Given the description of an element on the screen output the (x, y) to click on. 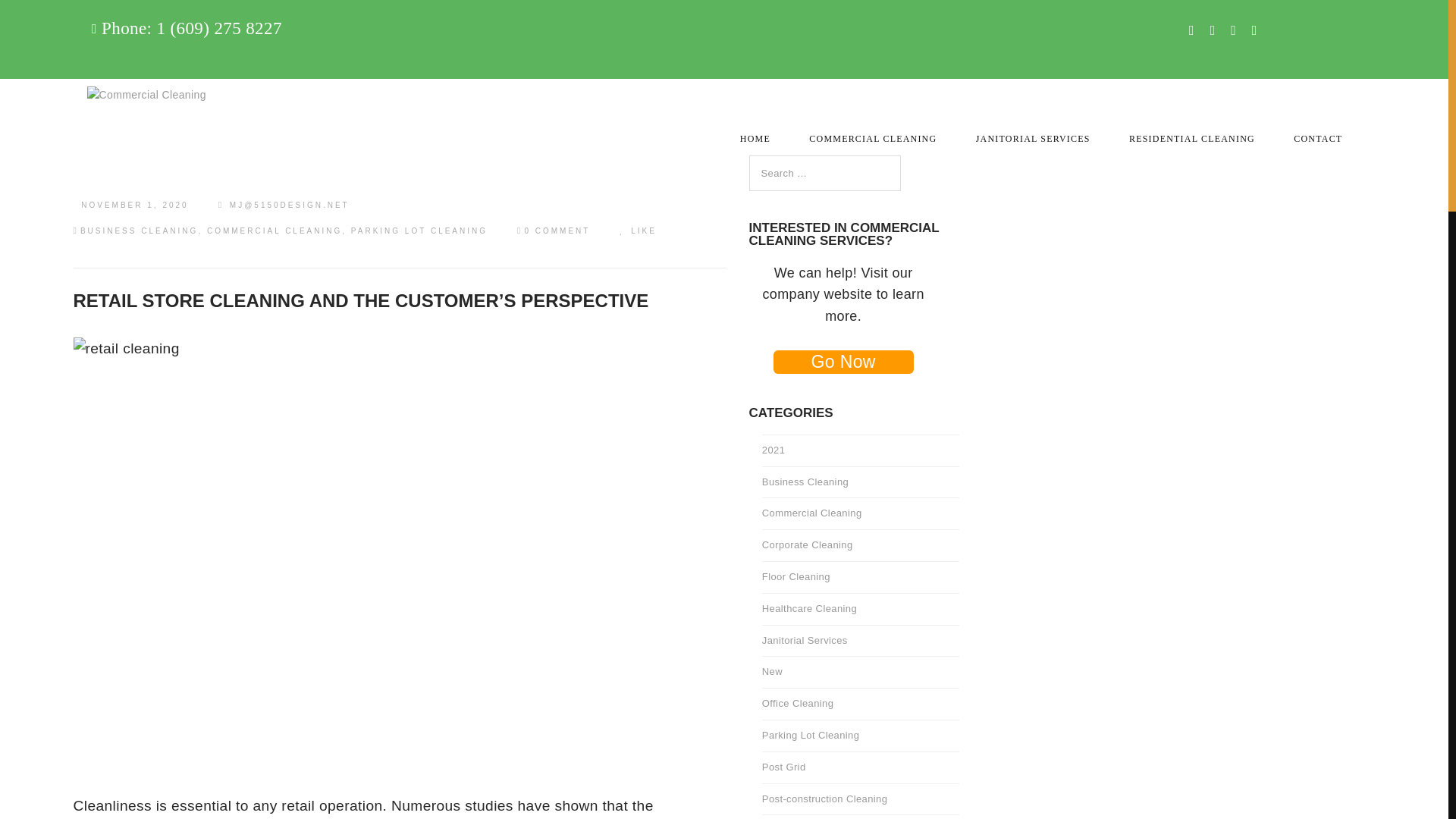
HOME (754, 129)
JANITORIAL SERVICES (1032, 129)
Janitorial Services (107, 89)
RESIDENTIAL CLEANING (1192, 129)
Home (107, 18)
Residential Cleaning (107, 123)
CONTACT (1317, 129)
Contact (107, 159)
Commercial Cleaning (107, 53)
COMMERCIAL CLEANING (872, 129)
